Given the description of an element on the screen output the (x, y) to click on. 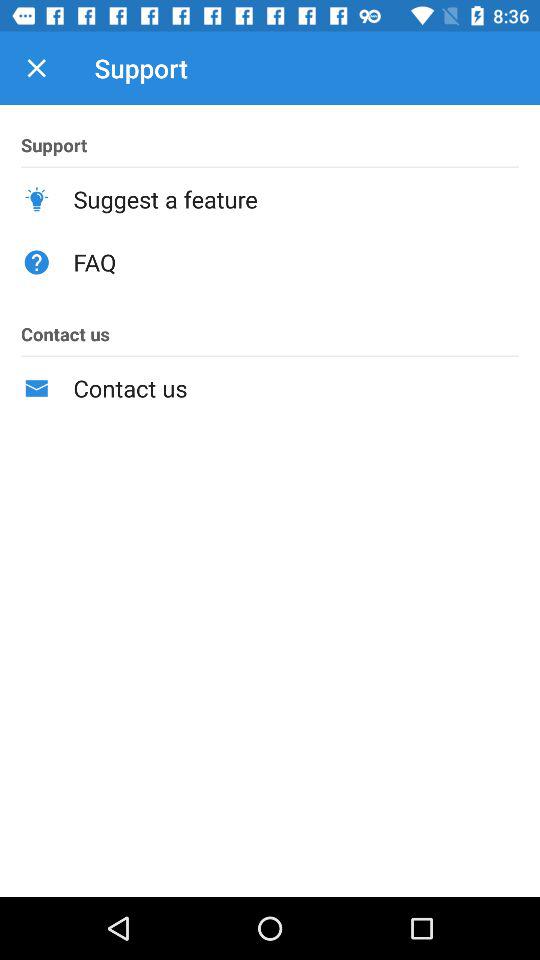
press icon above support item (36, 68)
